Given the description of an element on the screen output the (x, y) to click on. 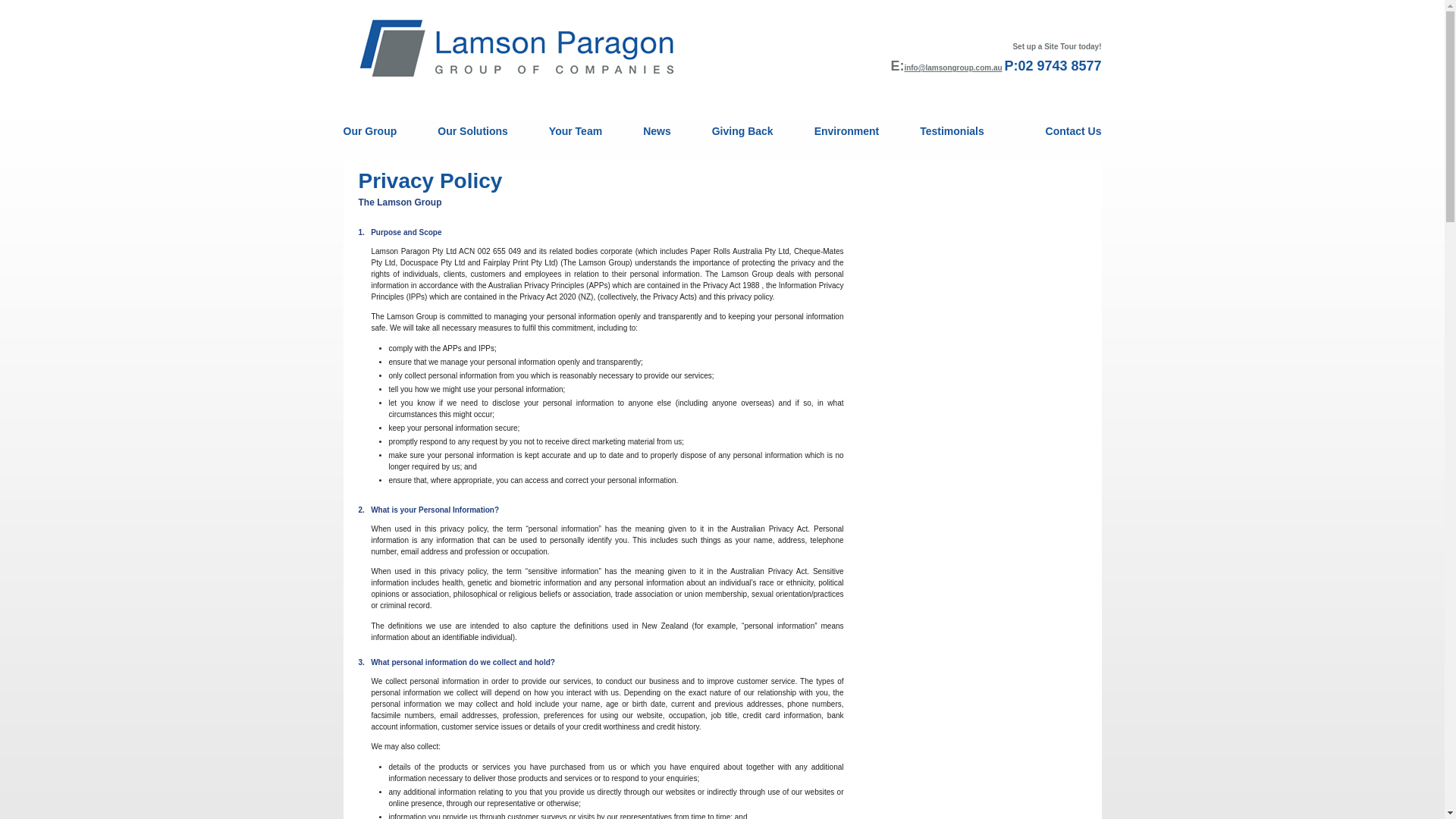
info@lamsongroup.com.au Element type: text (952, 67)
Our Group Element type: text (379, 130)
Contact Us Element type: text (1063, 130)
Giving Back Element type: text (742, 130)
Testimonials Element type: text (951, 130)
Our Solutions Element type: text (472, 130)
News Element type: text (656, 130)
Environment Element type: text (846, 130)
Your Team Element type: text (575, 130)
